Given the description of an element on the screen output the (x, y) to click on. 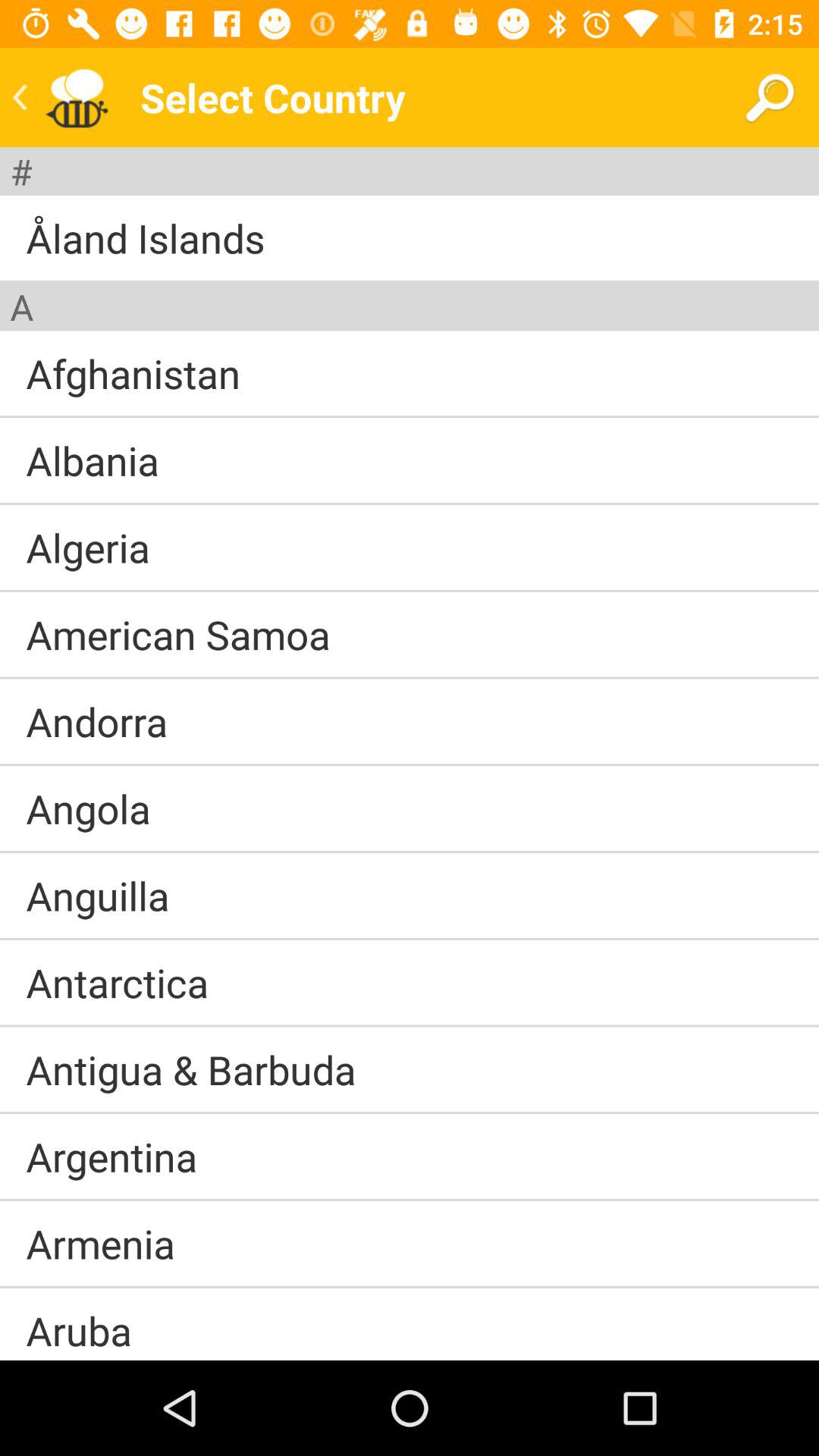
open item above antigua & barbuda item (409, 1025)
